Given the description of an element on the screen output the (x, y) to click on. 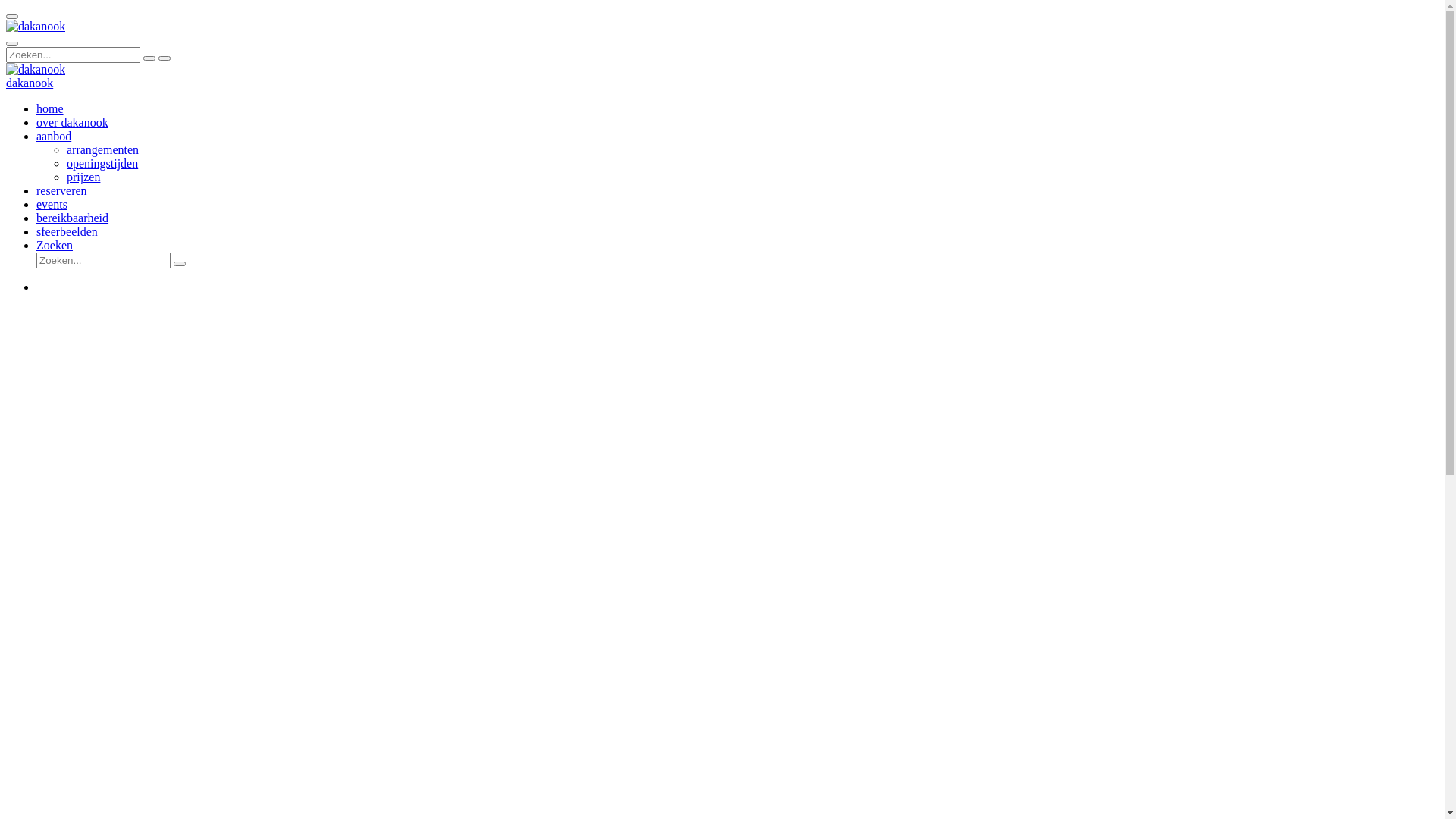
prijzen Element type: text (83, 176)
aanbod Element type: text (53, 135)
openingstijden Element type: text (102, 162)
Zoeken Element type: text (54, 244)
dakanook Element type: hover (35, 26)
over dakanook Element type: text (72, 122)
bereikbaarheid Element type: text (72, 217)
dakanook Element type: hover (35, 69)
home Element type: text (49, 108)
events Element type: text (51, 203)
arrangementen Element type: text (102, 149)
sfeerbeelden Element type: text (66, 231)
dakanook Element type: text (29, 82)
reserveren Element type: text (61, 190)
